Given the description of an element on the screen output the (x, y) to click on. 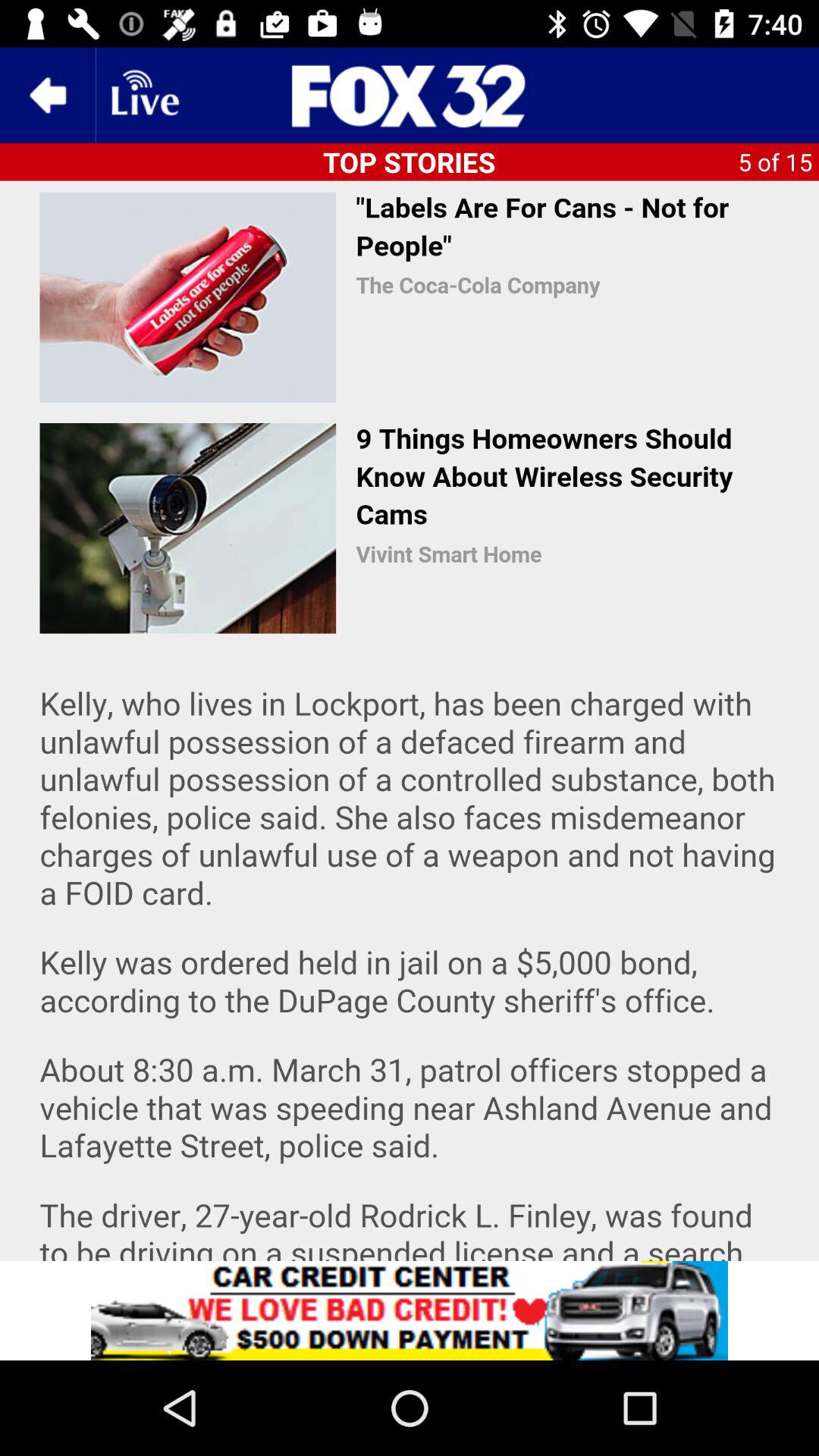
select screenshot (409, 720)
